Given the description of an element on the screen output the (x, y) to click on. 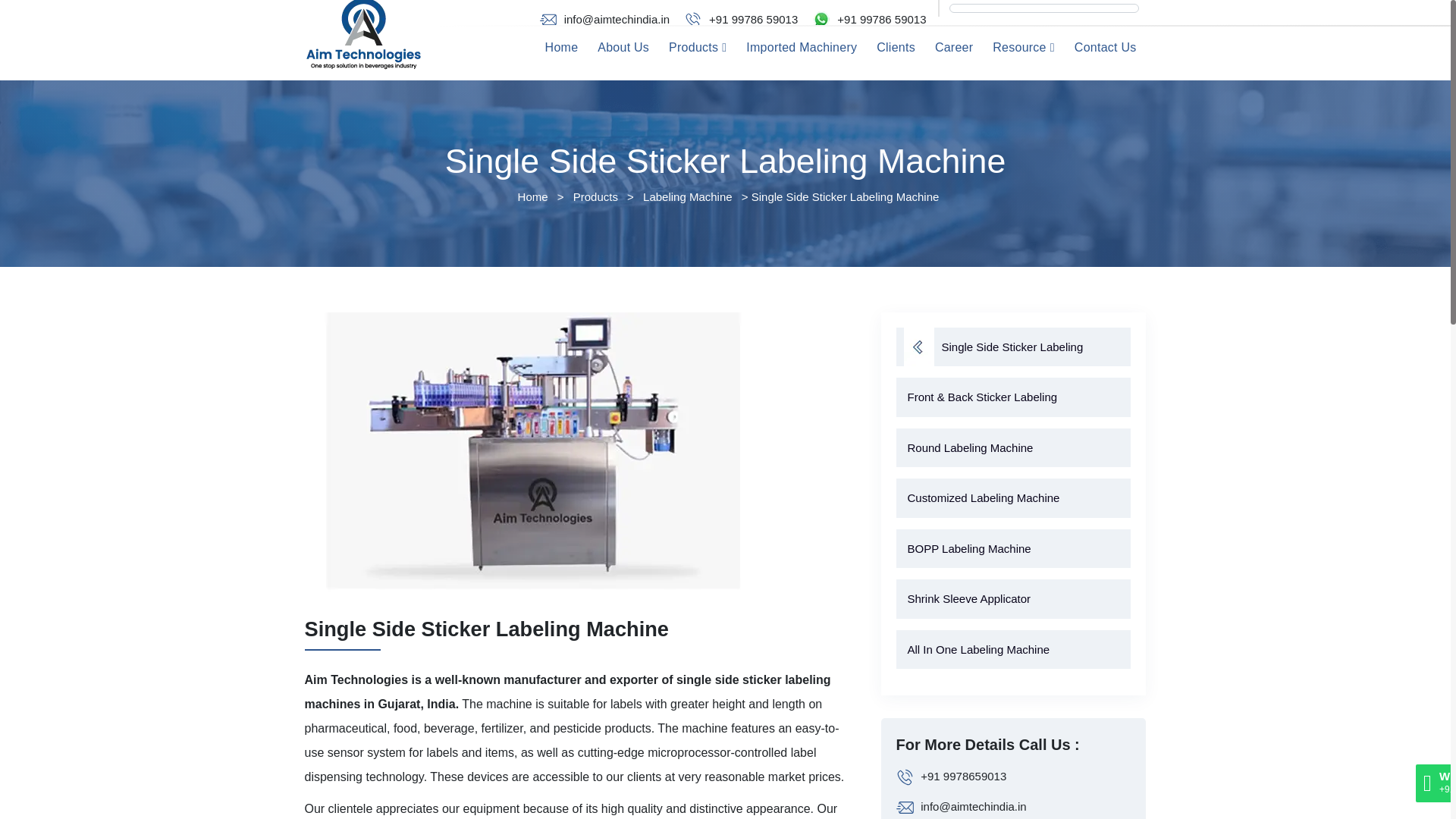
Email (616, 19)
Call (753, 19)
Shrink Sleeve Applicator (1013, 599)
Home (533, 196)
Imported Machinery (801, 46)
Career (953, 46)
Round Labeling Machine (1013, 447)
Labeling Machine (687, 196)
Customized Labeling Machine (1013, 497)
Home (561, 46)
BOPP Labeling Machine (1013, 548)
Clients (895, 46)
Single Side Sticker Labeling machine (533, 453)
Single Side Sticker Labeling (1013, 346)
Whatsapp (881, 19)
